Given the description of an element on the screen output the (x, y) to click on. 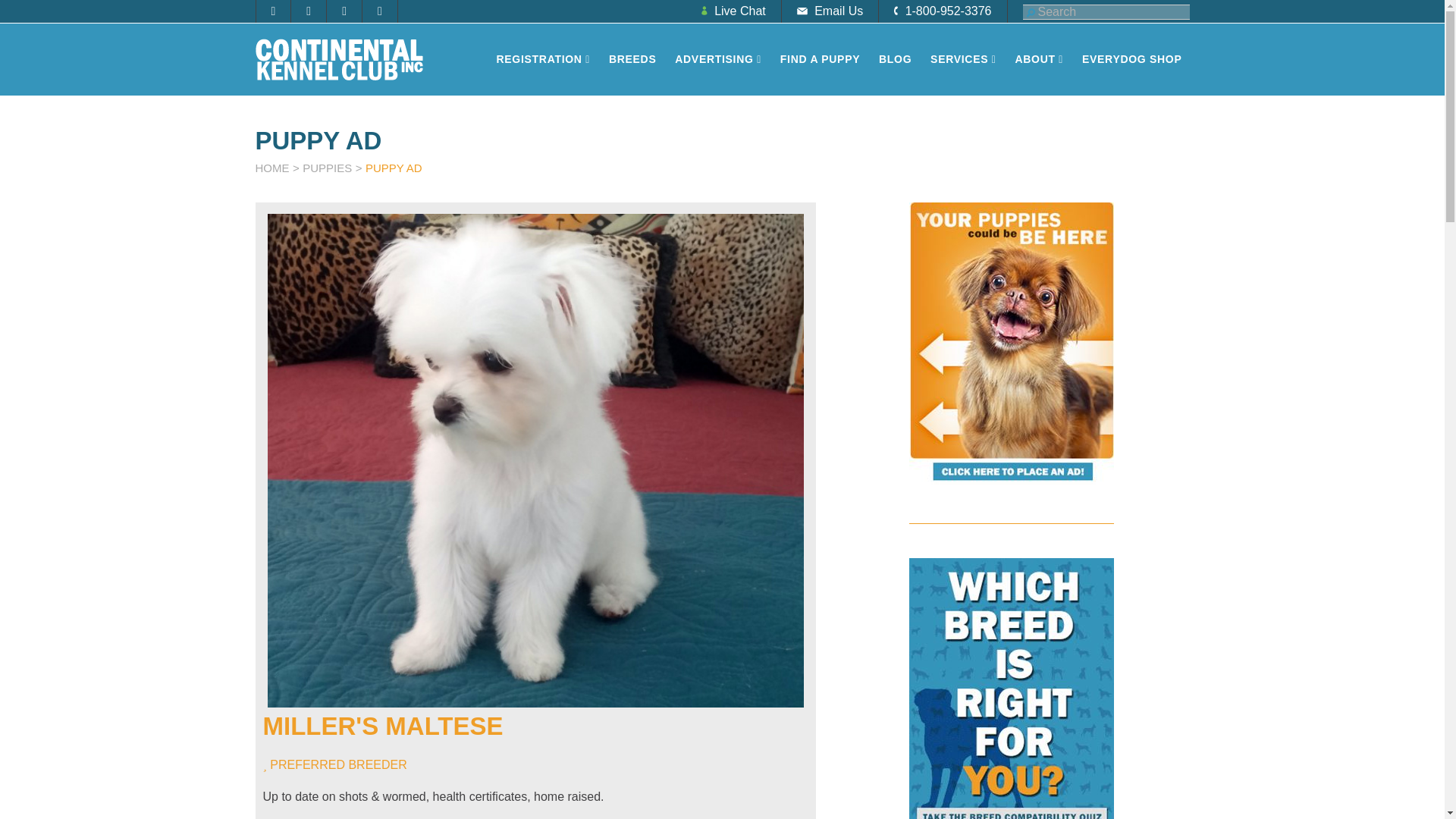
1-800-952-3376 (943, 11)
ADVERTISING (717, 59)
BLOG (894, 59)
REGISTRATION (541, 59)
BREEDS (632, 59)
ABOUT (1038, 59)
Email Us (830, 11)
Live Chat (733, 11)
FIND A PUPPY (820, 59)
SERVICES (963, 59)
